Given the description of an element on the screen output the (x, y) to click on. 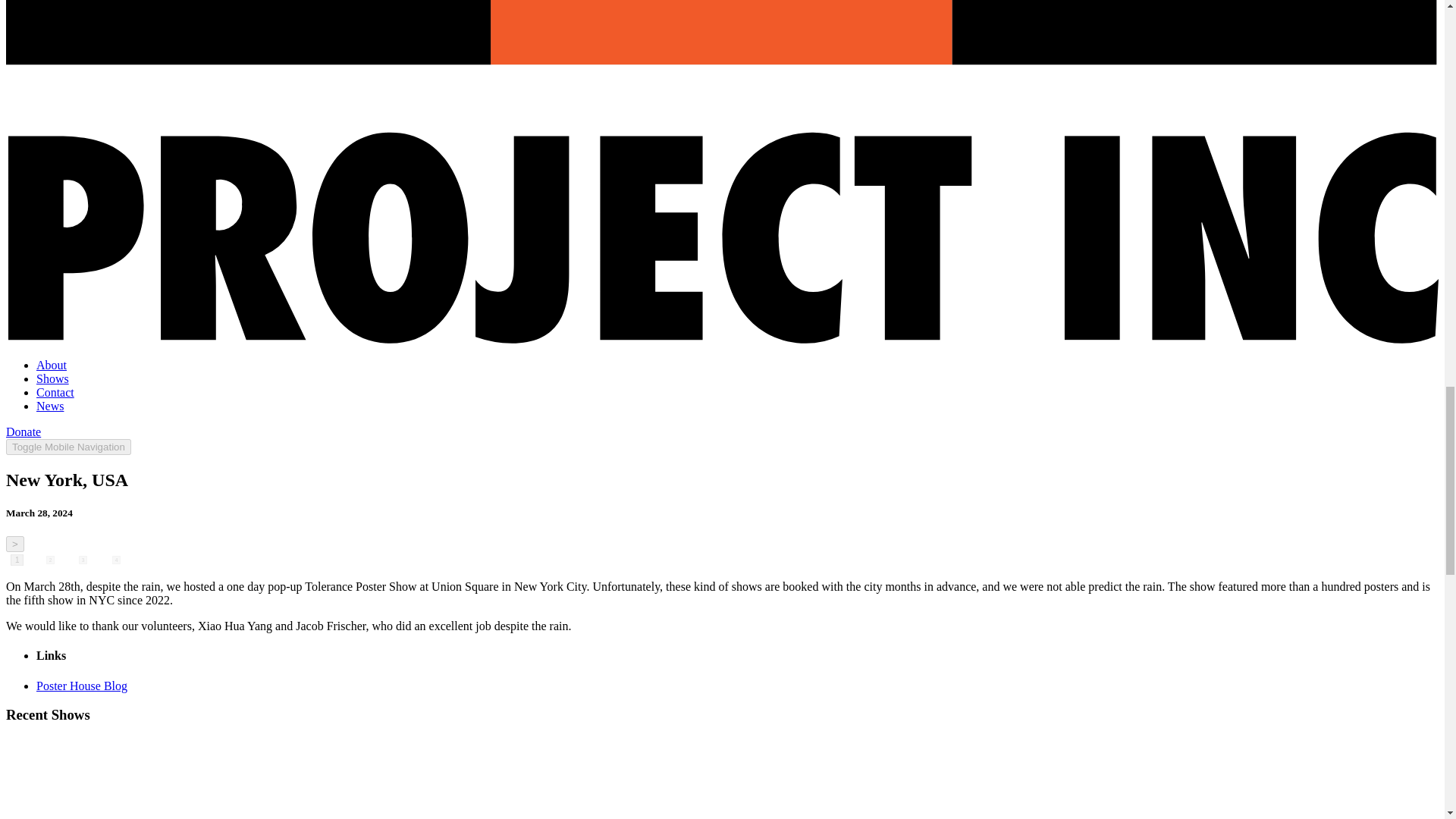
2 (55, 563)
3 (87, 563)
Donate (22, 431)
Poster House Blog (82, 685)
Contact (55, 391)
About (51, 364)
Shows (52, 378)
News (50, 405)
Toggle Mobile Navigation (68, 446)
1 (18, 562)
4 (120, 563)
